Given the description of an element on the screen output the (x, y) to click on. 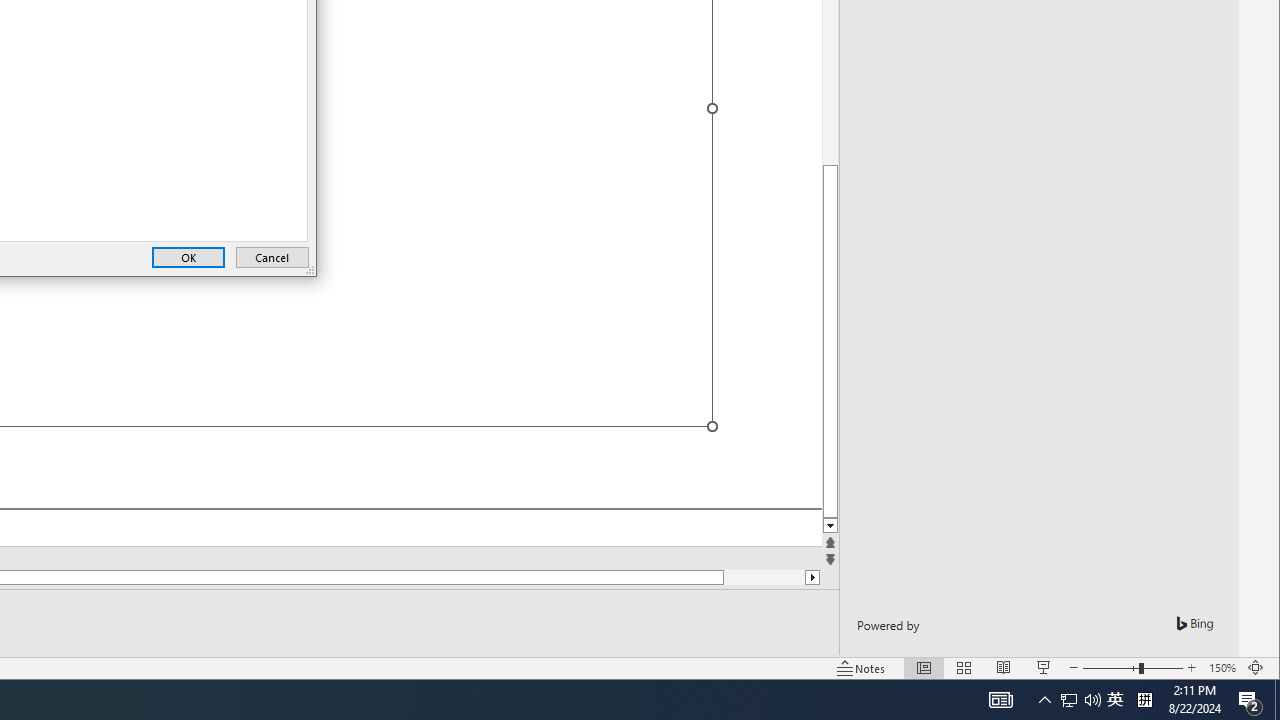
OK (188, 257)
